Given the description of an element on the screen output the (x, y) to click on. 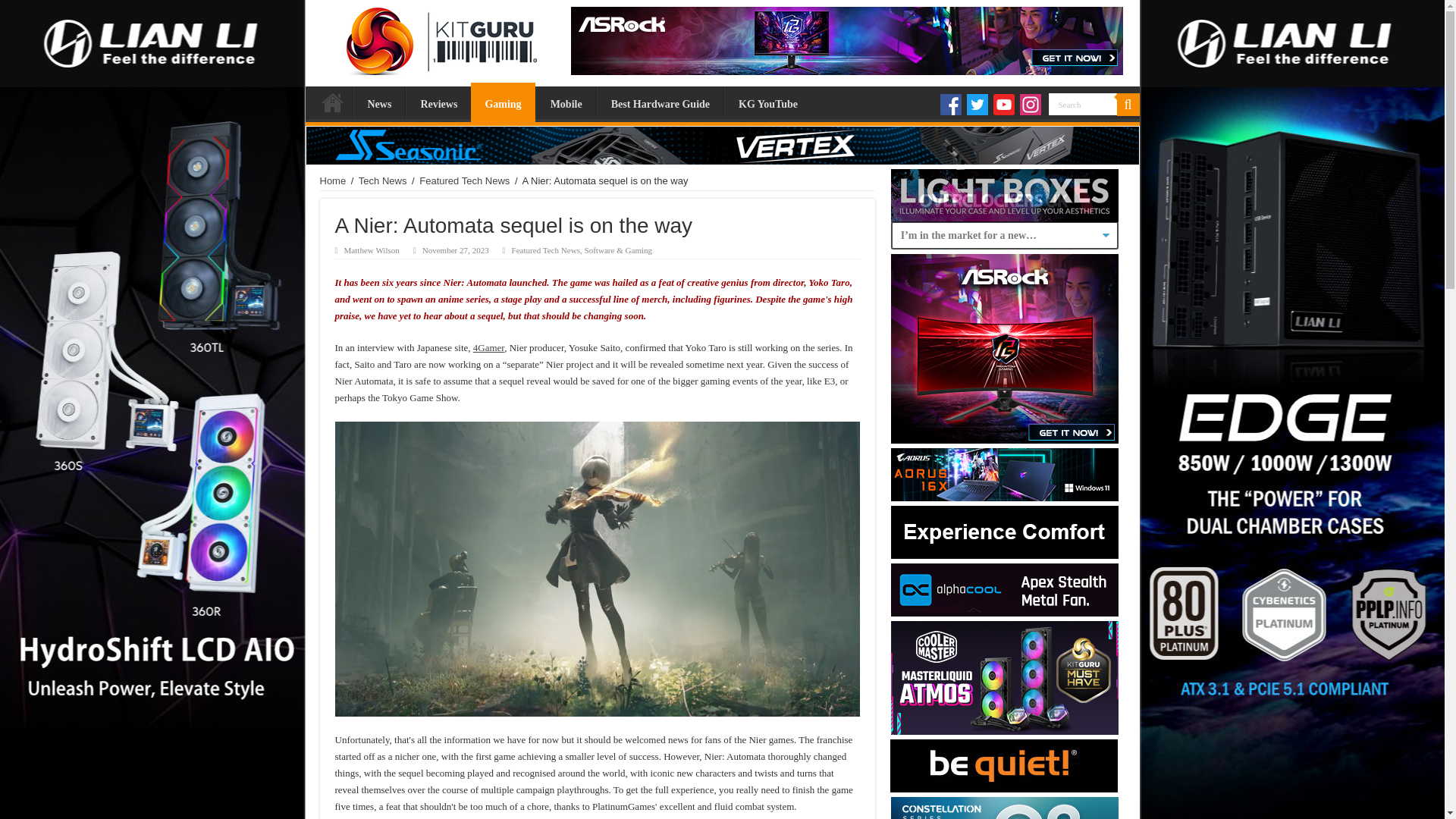
Mobile (565, 101)
Best Hardware Guide (659, 101)
Search (1082, 104)
KitGuru (437, 37)
Gaming (502, 102)
Matthew Wilson (370, 249)
Search (1082, 104)
KG YouTube (766, 101)
Facebook (950, 104)
Reviews (438, 101)
